Given the description of an element on the screen output the (x, y) to click on. 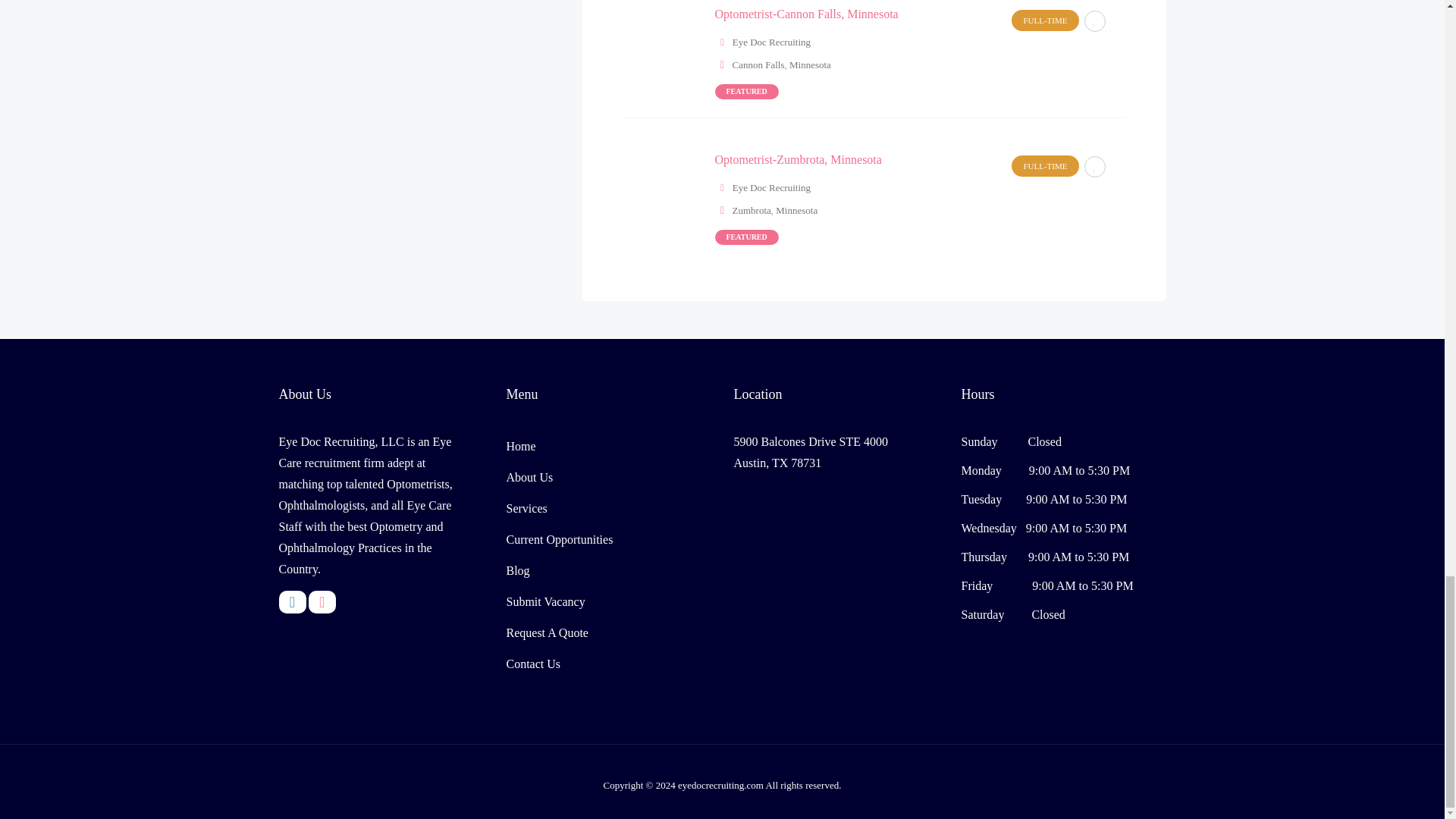
Linkedin (322, 601)
Facebook (292, 601)
Optometrist-Cannon Falls, Minnesota (806, 13)
Eye Doc Recruiting (771, 41)
